Given the description of an element on the screen output the (x, y) to click on. 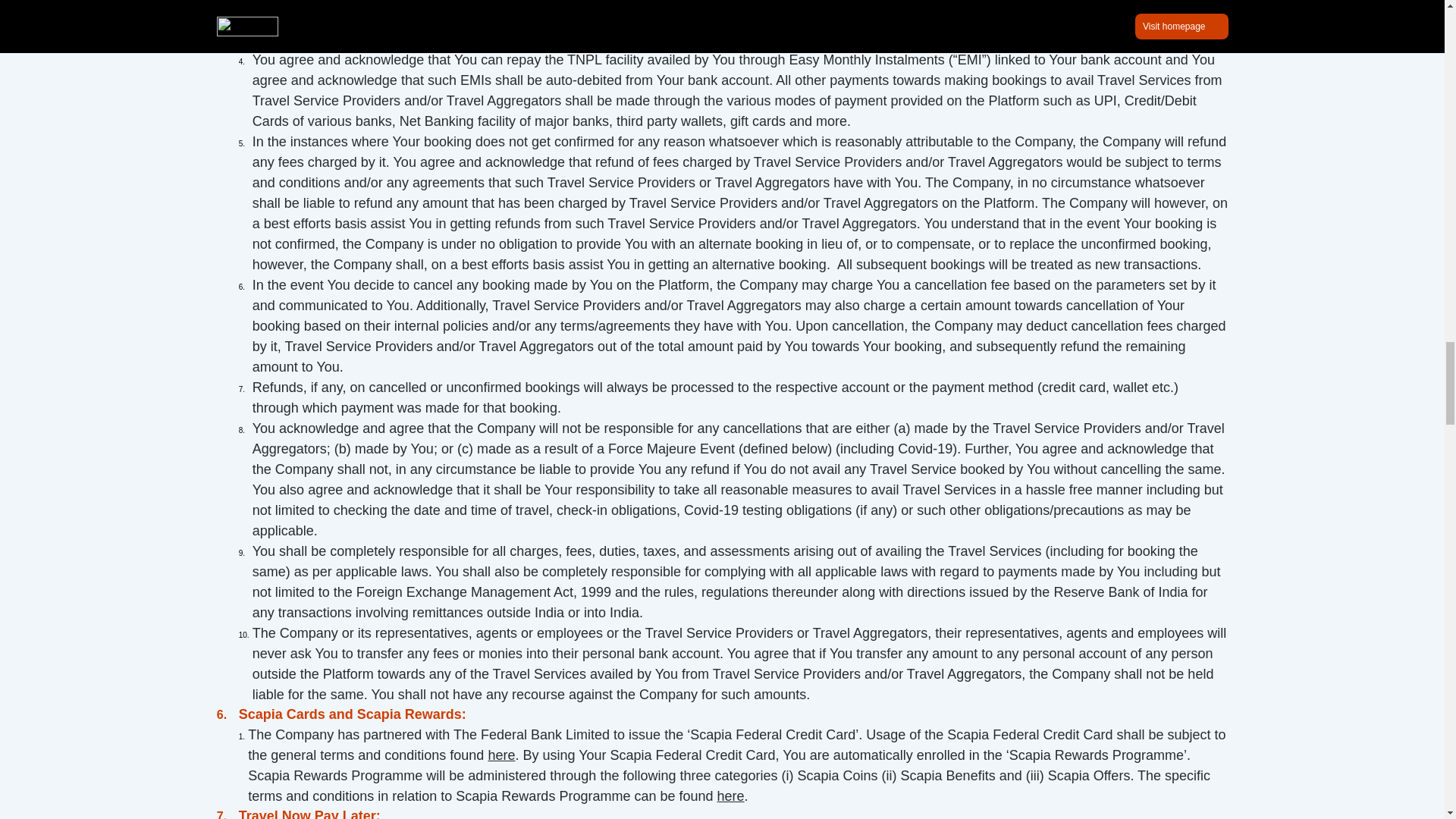
here (730, 795)
here (501, 754)
